Given the description of an element on the screen output the (x, y) to click on. 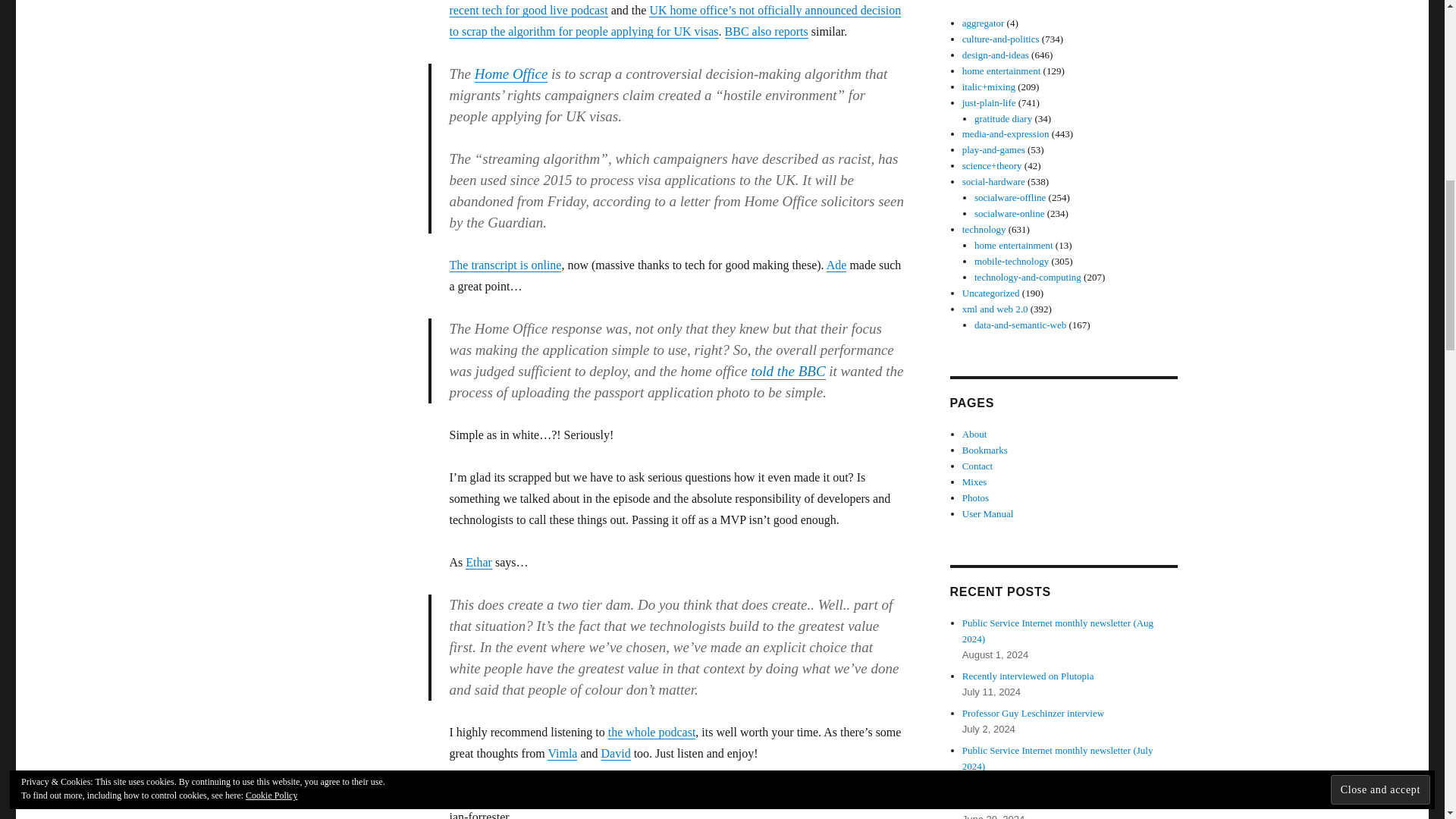
David (615, 753)
told the BBC (788, 371)
Home Office (511, 73)
Ade (837, 264)
most recent tech for good live podcast (660, 8)
BBC also reports (766, 31)
Vimla (561, 753)
the whole podcast (651, 731)
The transcript is online (504, 264)
Ethar (478, 562)
